Given the description of an element on the screen output the (x, y) to click on. 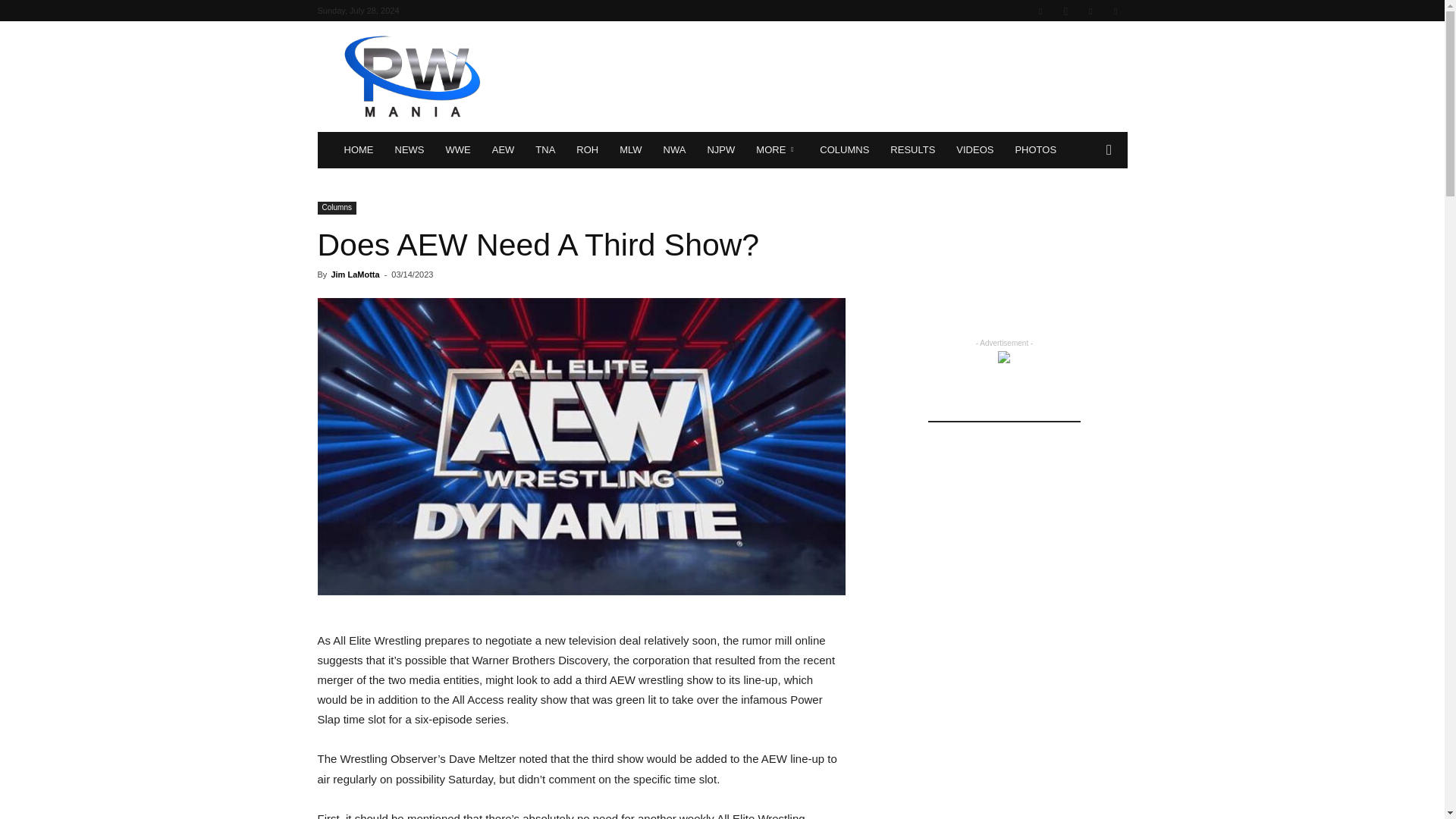
NEWS (408, 149)
Instagram (1065, 10)
HOME (358, 149)
WWE (458, 149)
Facebook (1040, 10)
Twitter (1090, 10)
TNA (545, 149)
AEW (503, 149)
NWA (674, 149)
Youtube (1114, 10)
MLW (630, 149)
ROH (587, 149)
